Given the description of an element on the screen output the (x, y) to click on. 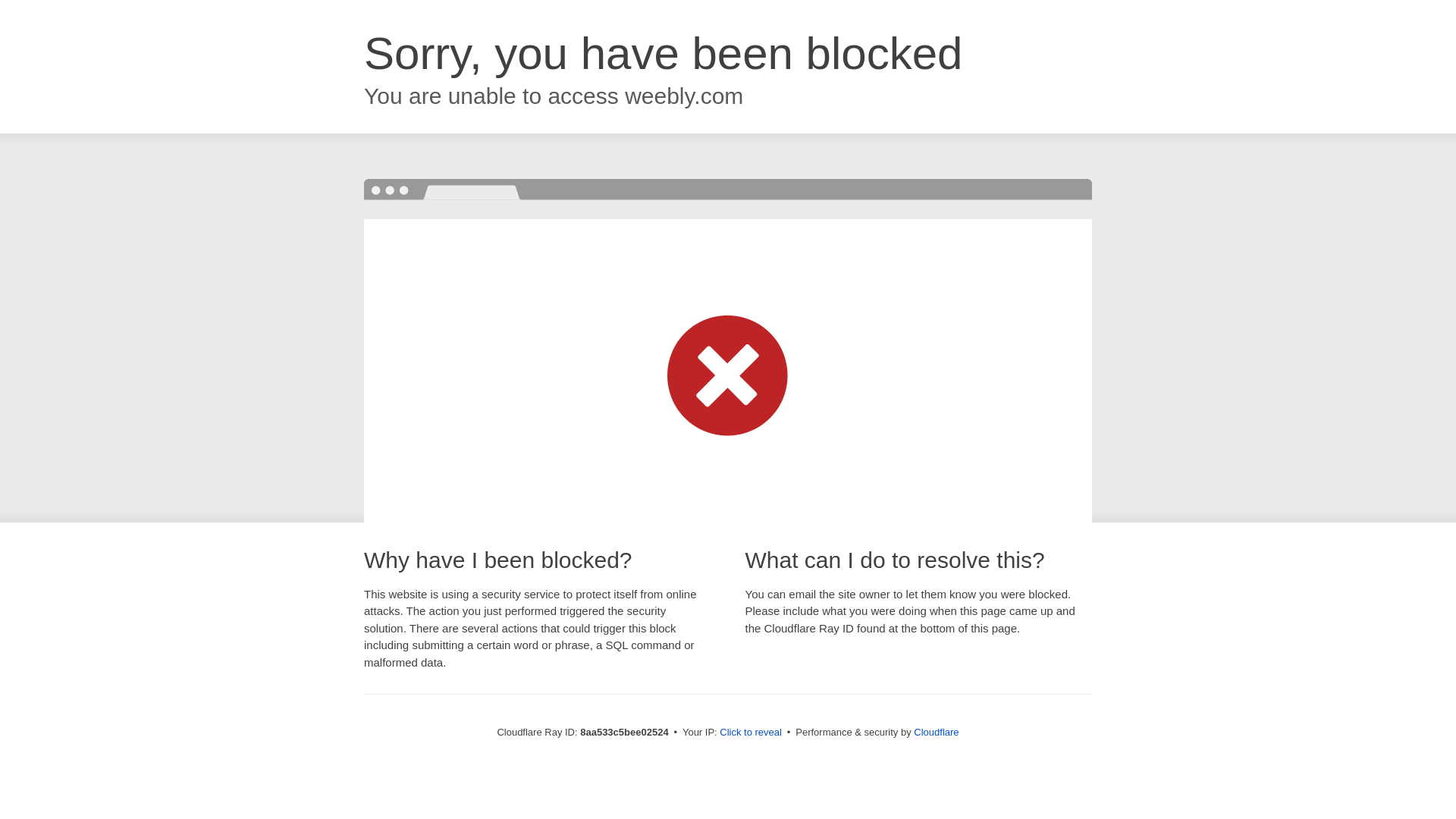
Click to reveal (750, 732)
Cloudflare (936, 731)
